Given the description of an element on the screen output the (x, y) to click on. 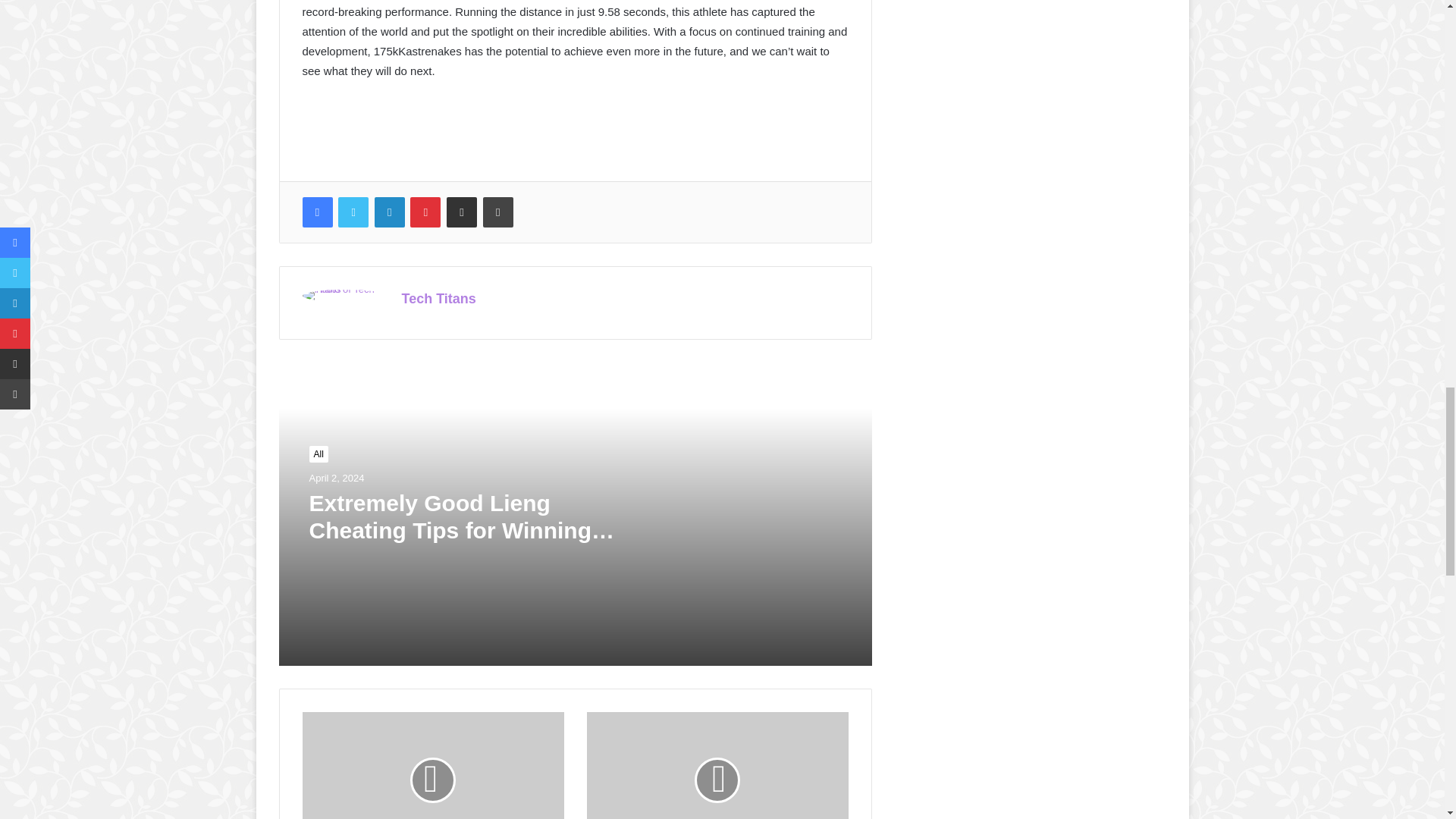
Pinterest (425, 212)
LinkedIn (389, 212)
Facebook (316, 212)
Facebook (316, 212)
Twitter (352, 212)
Twitter (352, 212)
LinkedIn (389, 212)
